Given the description of an element on the screen output the (x, y) to click on. 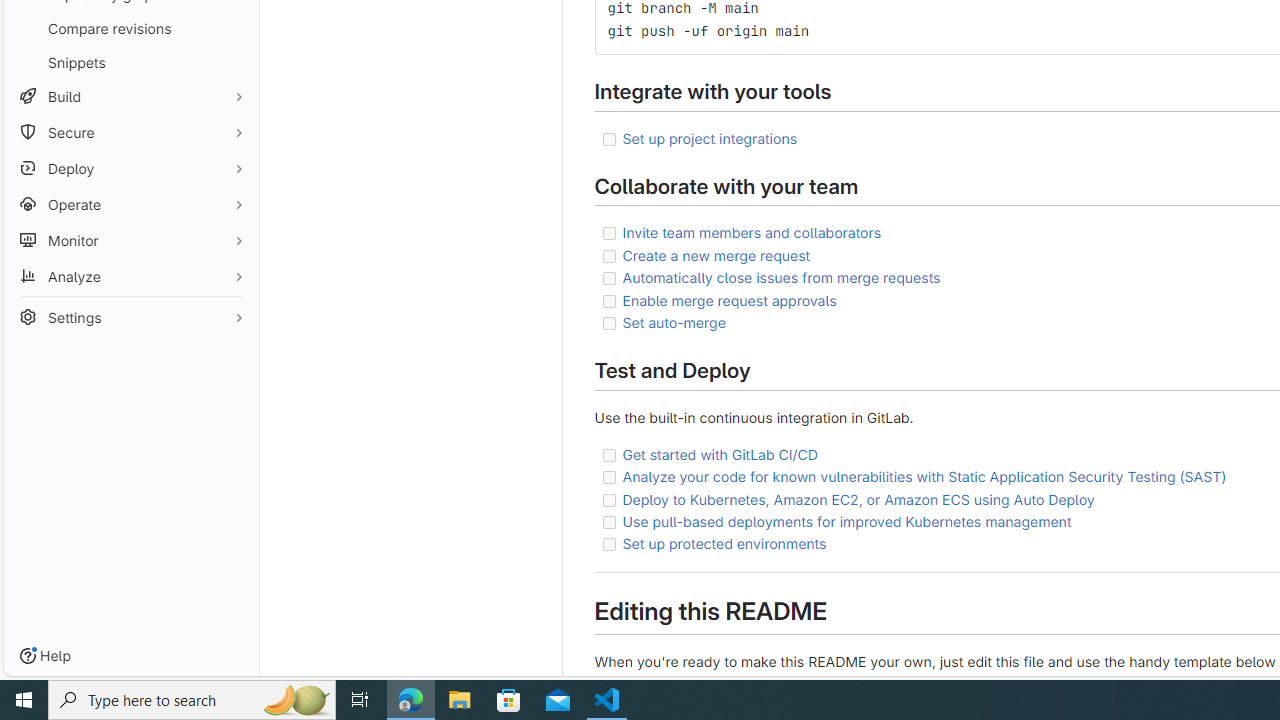
Deploy (130, 168)
Set up project integrations (709, 137)
Operate (130, 204)
